Given the description of an element on the screen output the (x, y) to click on. 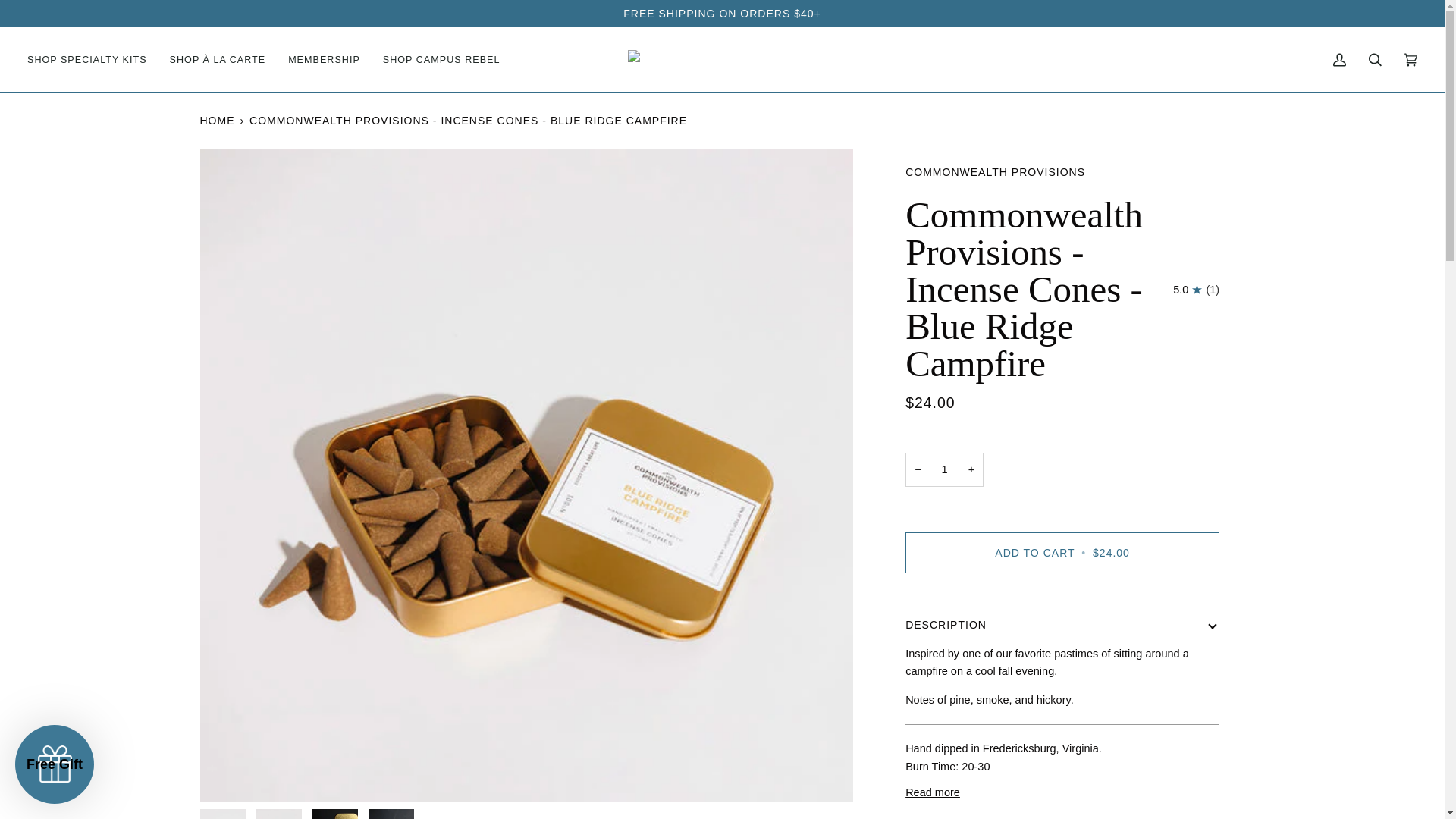
1 (944, 469)
Back to the frontpage (217, 119)
SHOP SPECIALTY KITS (92, 59)
